Given the description of an element on the screen output the (x, y) to click on. 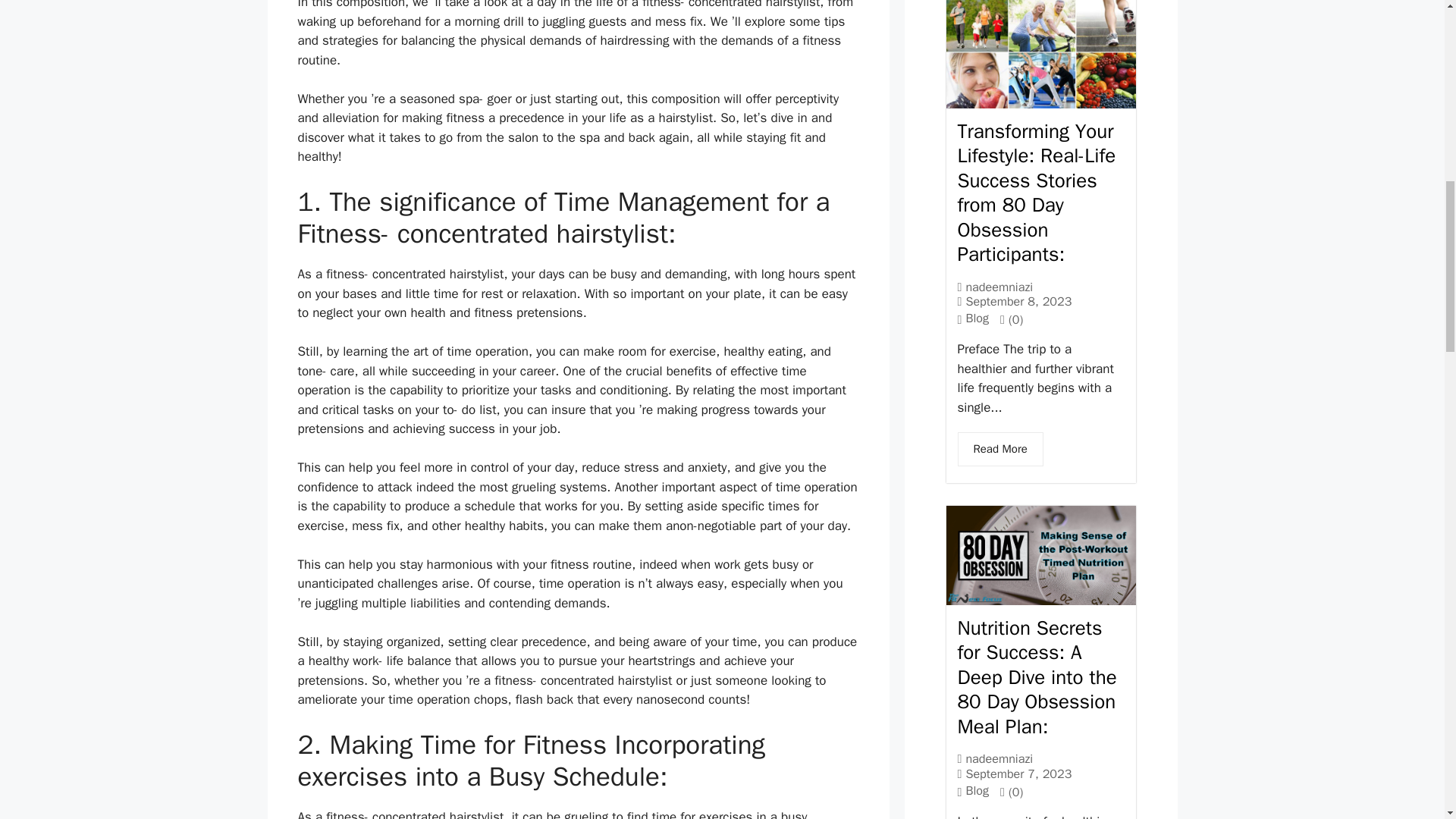
nadeemniazi (998, 287)
Blog (976, 317)
Blog (976, 790)
Read More (999, 449)
nadeemniazi (998, 758)
